Given the description of an element on the screen output the (x, y) to click on. 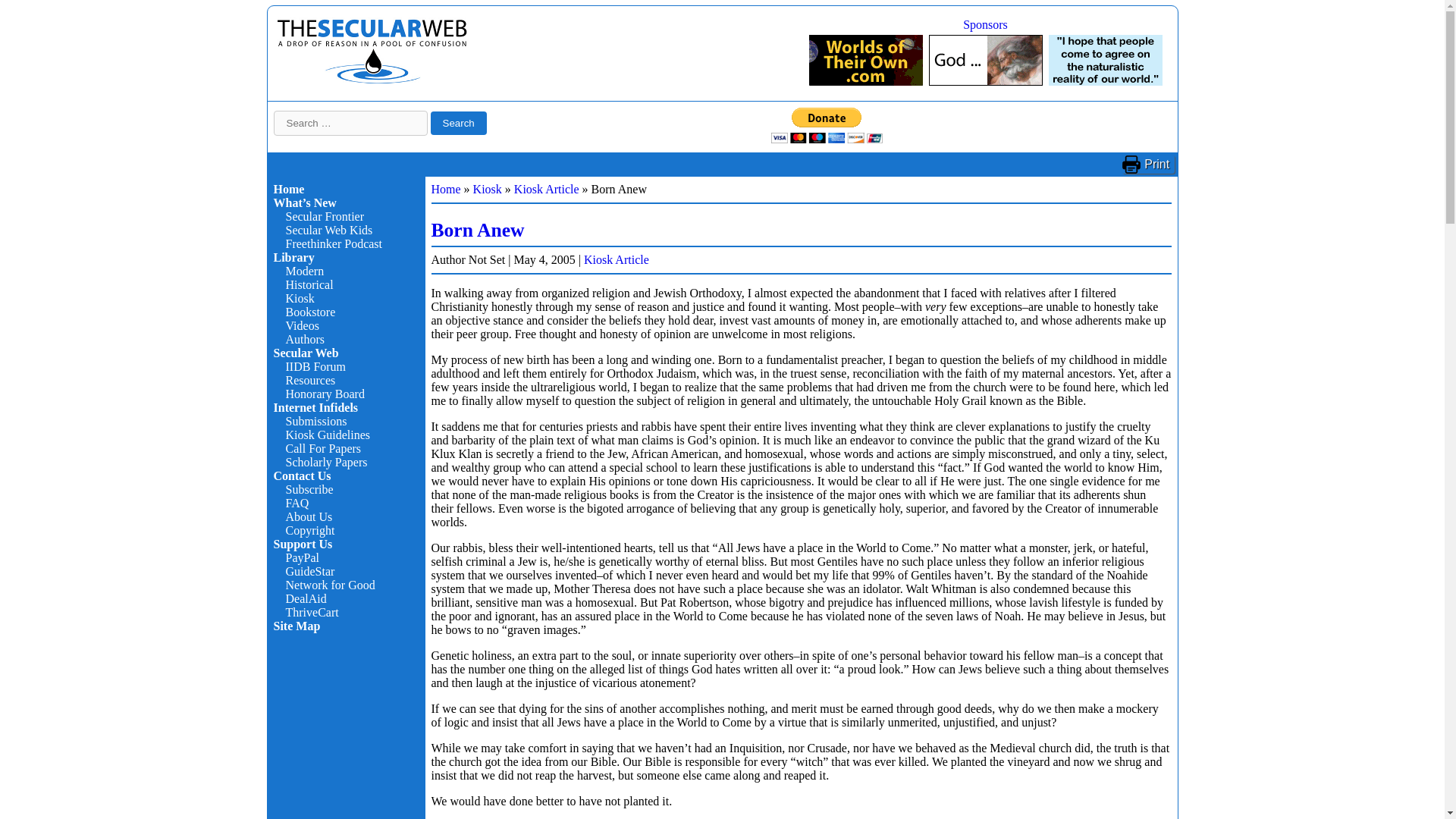
DealAid (305, 598)
Freethinker Podcast (333, 243)
Honorary Board (324, 393)
Internet Infidels (371, 79)
Search (458, 123)
Network for Good (329, 584)
Born Anew (477, 229)
Search (458, 123)
PayPal (301, 557)
Site Map (296, 625)
